Given the description of an element on the screen output the (x, y) to click on. 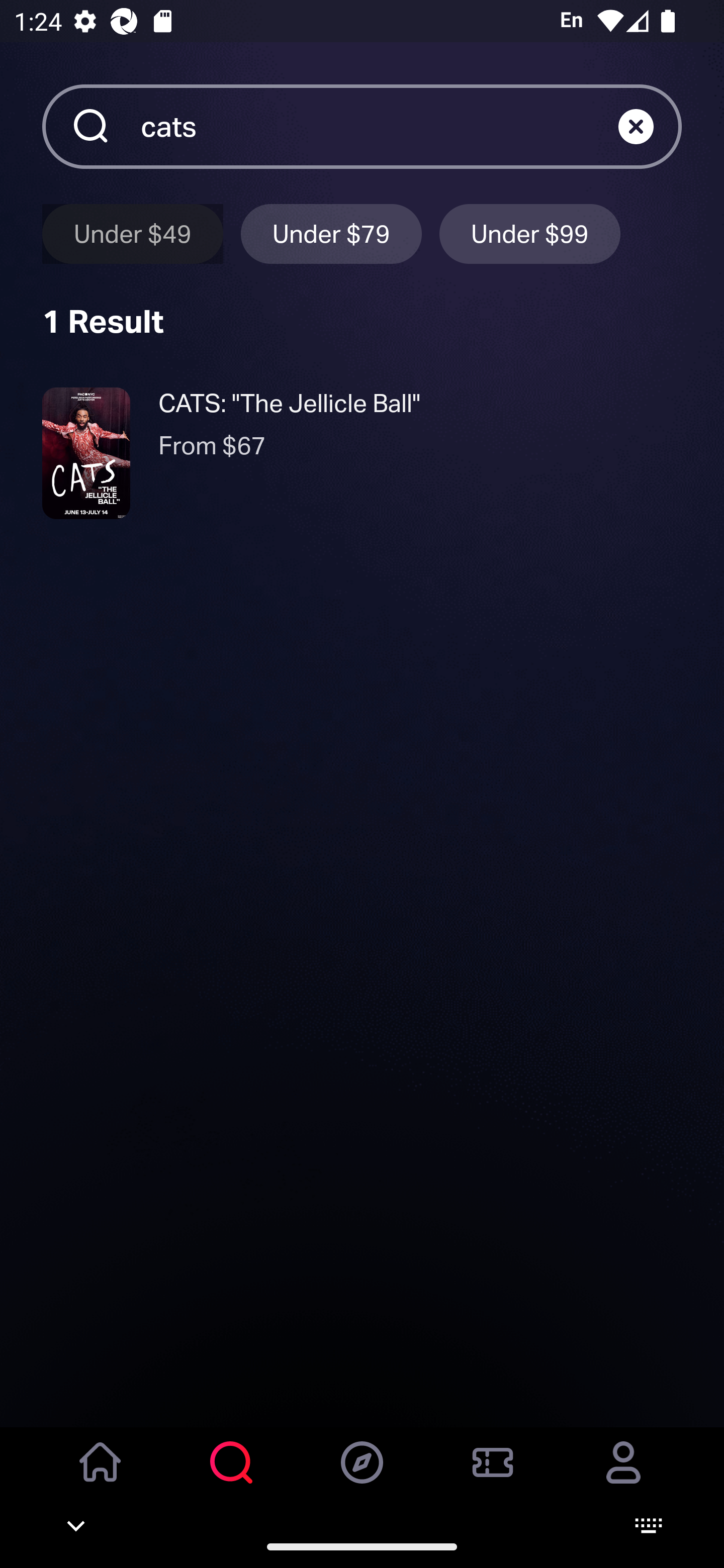
cats (379, 126)
Under $49 (131, 233)
Under $79 (331, 233)
Under $99 (529, 233)
Home (100, 1475)
Discover (361, 1475)
Orders (492, 1475)
Account (623, 1475)
